Given the description of an element on the screen output the (x, y) to click on. 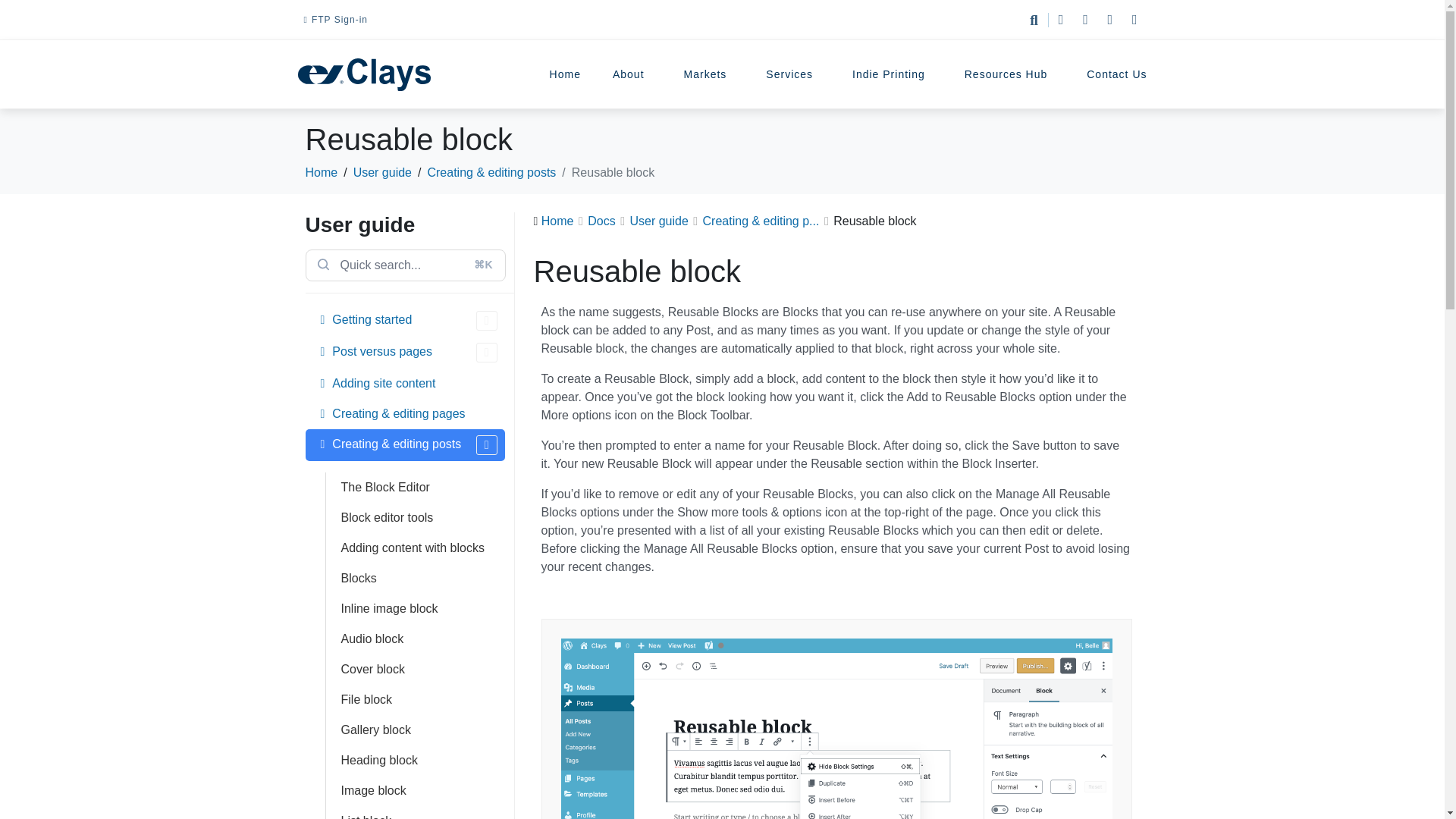
Home (565, 73)
Markets (709, 73)
Search for: (404, 265)
Indie Printing (892, 73)
Services (793, 73)
Contact Us (1116, 73)
Resources Hub (1009, 73)
FTP Sign-in (335, 19)
About (632, 73)
